Given the description of an element on the screen output the (x, y) to click on. 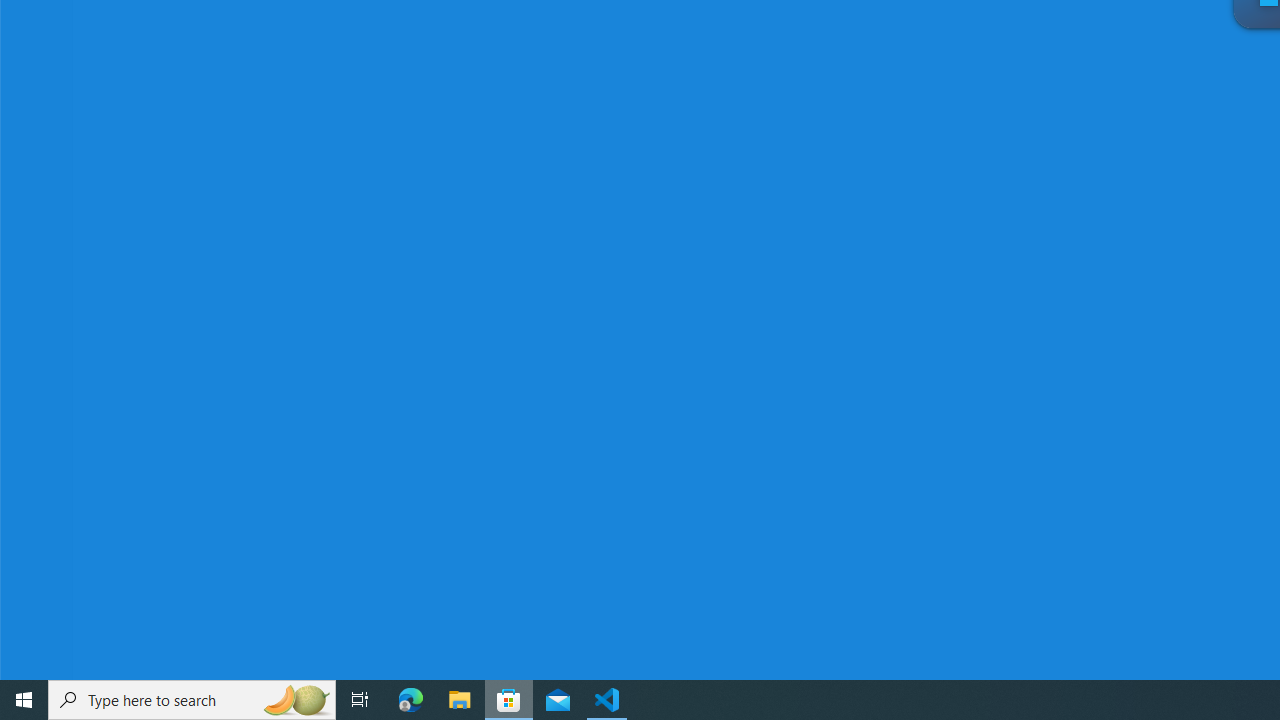
Class: Hyperlink (403, 564)
